Given the description of an element on the screen output the (x, y) to click on. 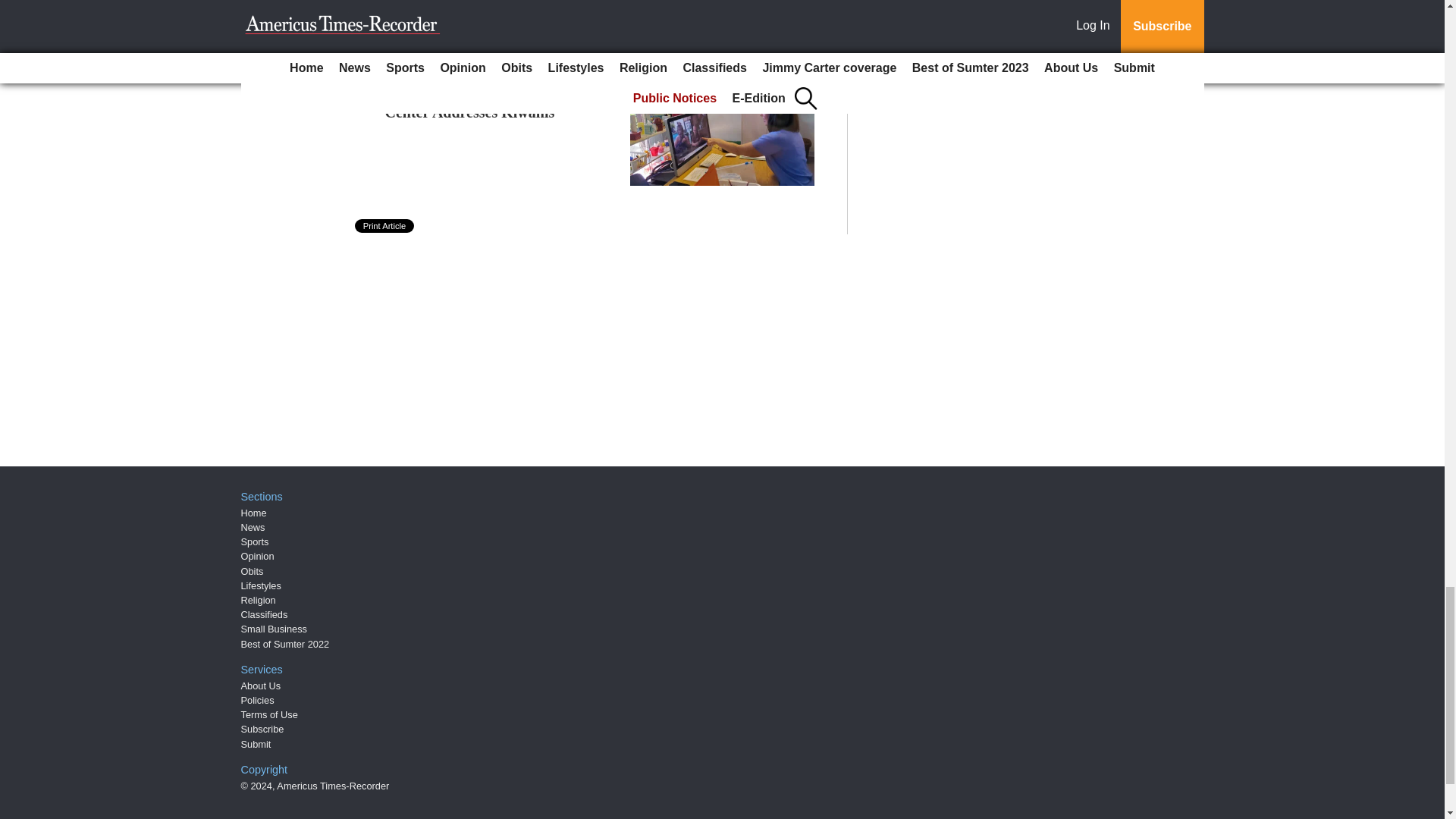
Sports (255, 541)
Opinion (258, 555)
Print Article (384, 225)
Classifieds (264, 614)
Home (253, 512)
Best of Sumter 2022 (285, 644)
Lifestyles (261, 585)
The CEO of The Auditory-Verbal Center Addresses Kiwanis (493, 102)
The CEO of The Auditory-Verbal Center Addresses Kiwanis (493, 102)
Religion (258, 600)
Obits (252, 571)
Small Business (274, 628)
News (252, 527)
